Given the description of an element on the screen output the (x, y) to click on. 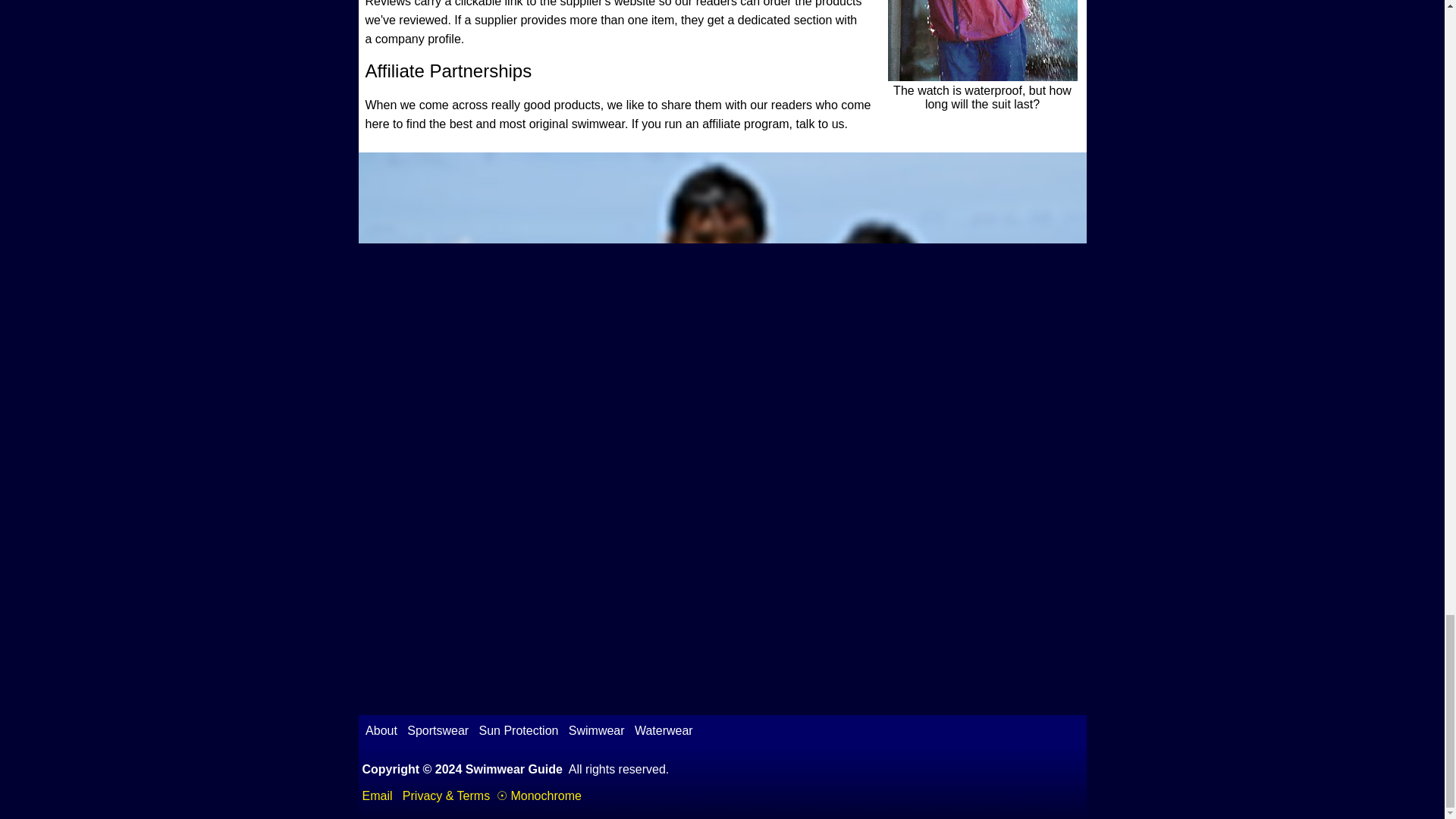
Waterwear brings you convenience, warmth, and sun protection (662, 730)
 Sportswear  (437, 730)
Monochrome Mode (538, 795)
 Swimwear  (595, 730)
There is much more to swimwear than bikinis and shorts (595, 730)
 Waterwear  (662, 730)
 About  (381, 730)
 Sun Protection  (519, 730)
Find out all about being safe in the sun (519, 730)
Email (377, 795)
